Given the description of an element on the screen output the (x, y) to click on. 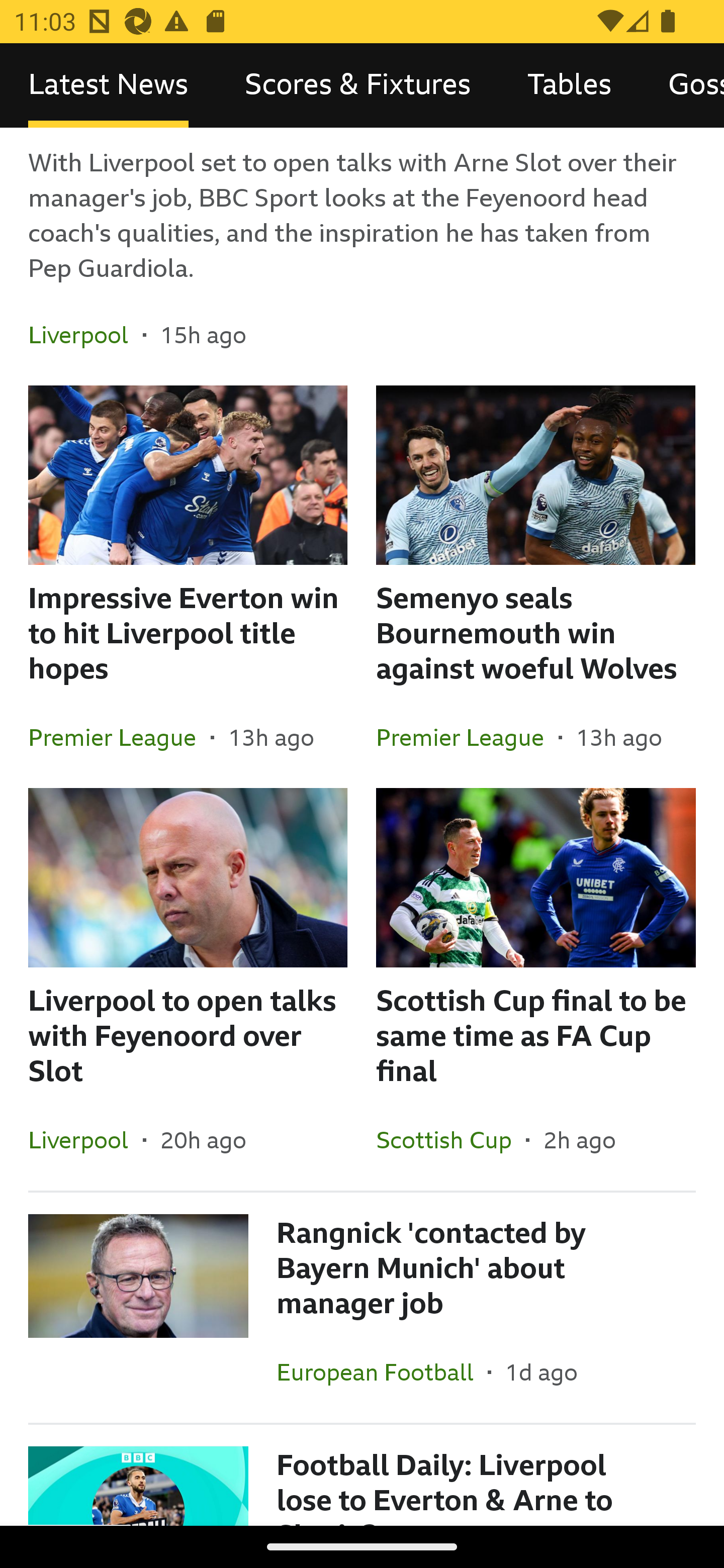
Latest News, selected Latest News (108, 85)
Scores & Fixtures (357, 85)
Tables (569, 85)
Liverpool In the section Liverpool (85, 334)
Premier League In the section Premier League (119, 737)
Premier League In the section Premier League (466, 737)
Liverpool In the section Liverpool (85, 1139)
Scottish Cup In the section Scottish Cup (450, 1139)
European Football In the section European Football (381, 1371)
